Given the description of an element on the screen output the (x, y) to click on. 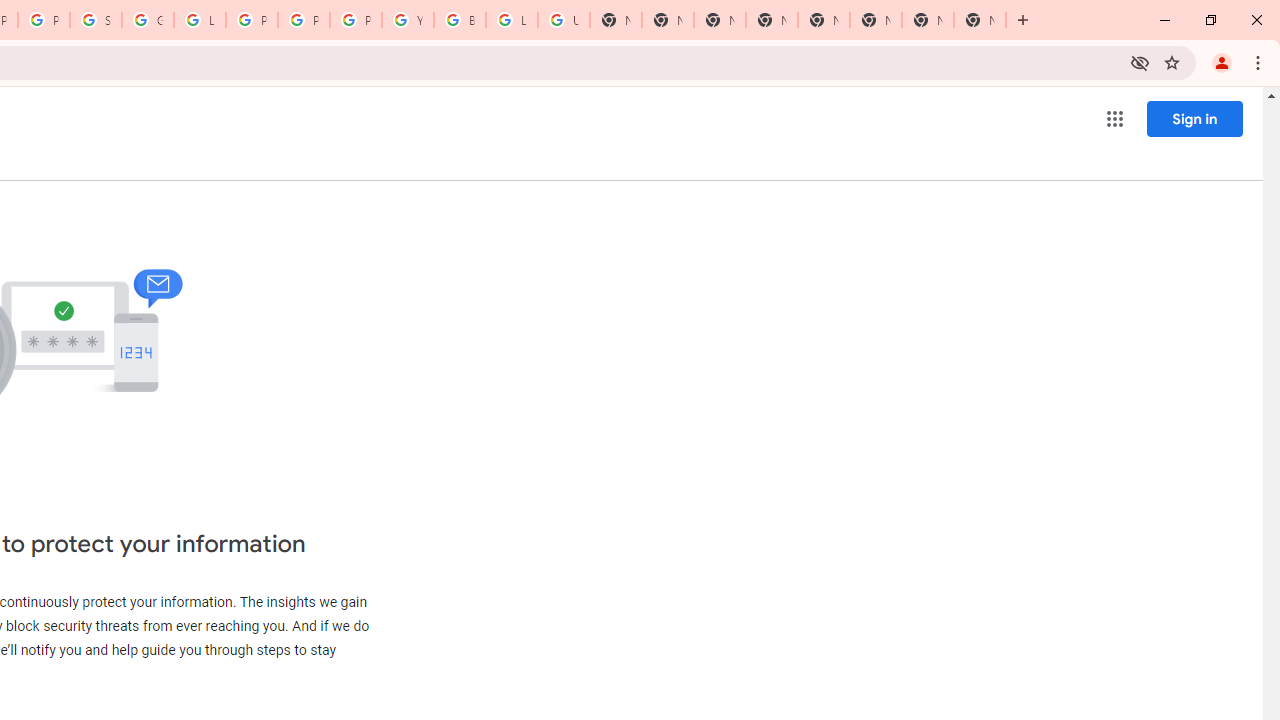
YouTube (407, 20)
New Tab (979, 20)
Privacy Help Center - Policies Help (303, 20)
New Tab (719, 20)
Privacy Help Center - Policies Help (251, 20)
